Given the description of an element on the screen output the (x, y) to click on. 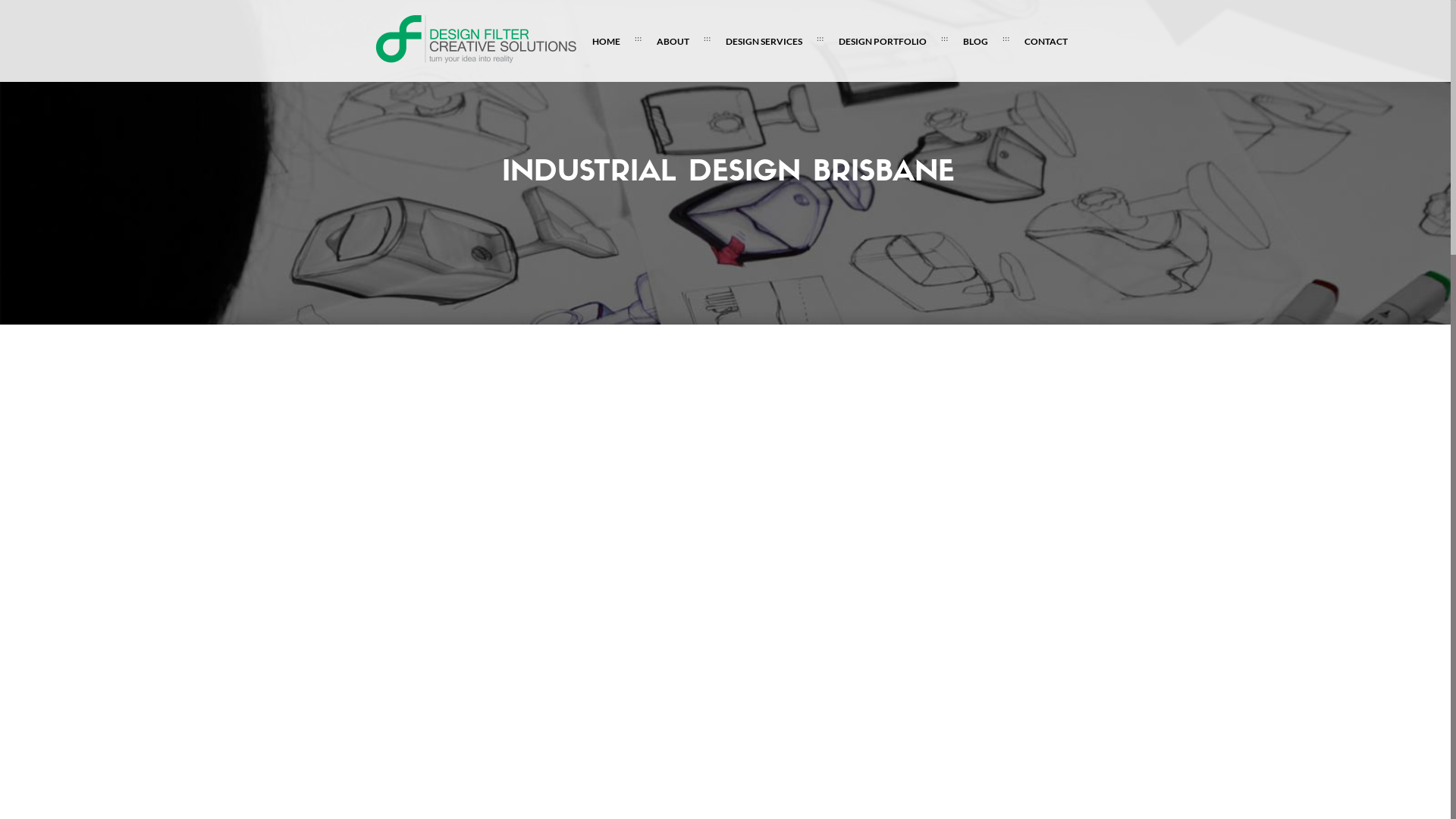
ABOUT Element type: text (672, 42)
DESIGN PORTFOLIO Element type: text (882, 42)
HOME Element type: text (606, 42)
DESIGN SERVICES Element type: text (763, 42)
CONTACT Element type: text (1045, 42)
BLOG Element type: text (975, 42)
